Given the description of an element on the screen output the (x, y) to click on. 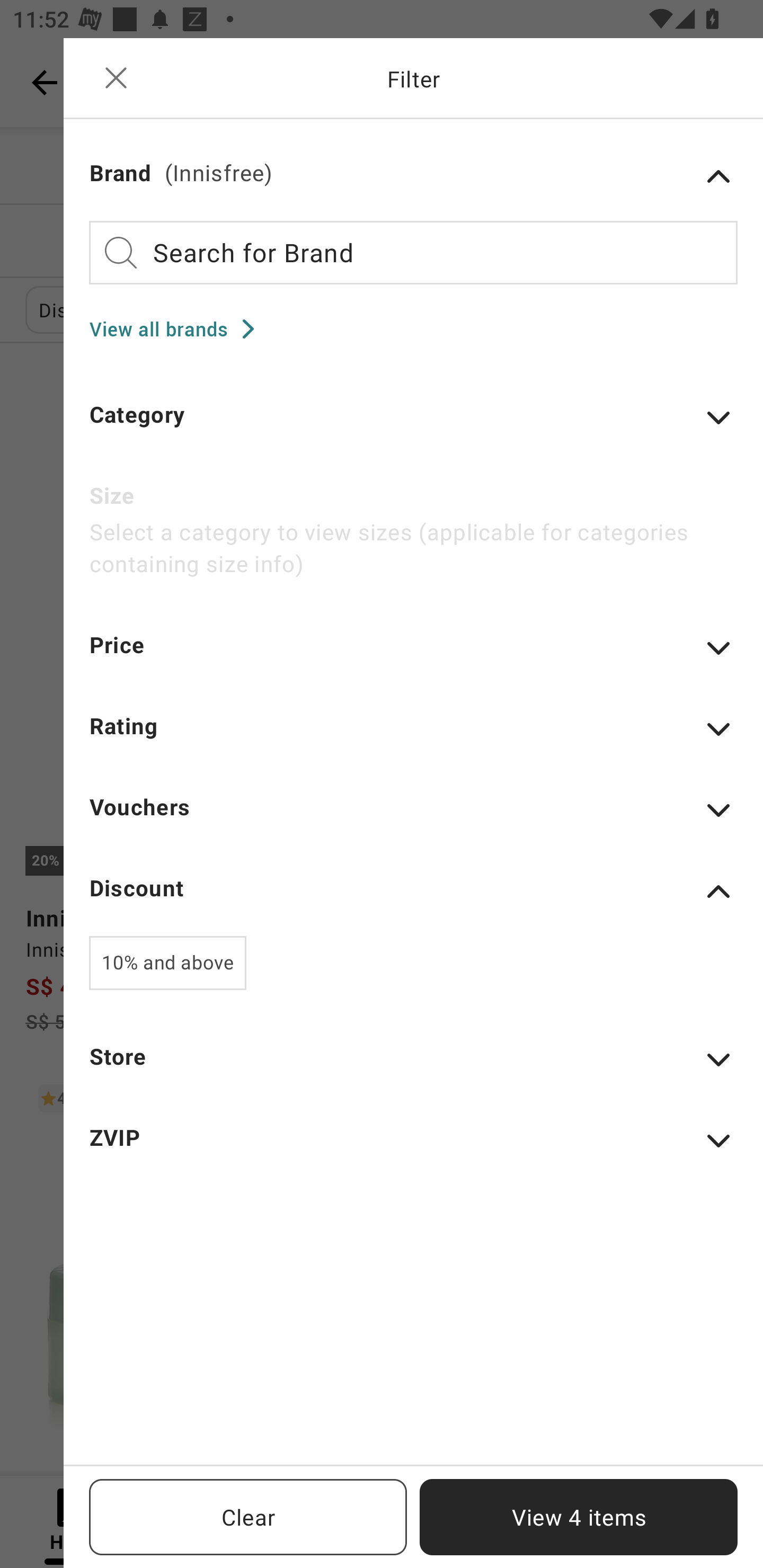
Brand (Innisfree) (413, 176)
Search for Brand (413, 252)
View all brands (177, 328)
Category (413, 426)
Price (413, 656)
Rating (413, 738)
Vouchers (413, 818)
Discount (413, 891)
10% and above (167, 962)
Store (413, 1068)
ZVIP (413, 1149)
Clear (247, 1516)
View 4 items (578, 1516)
